Given the description of an element on the screen output the (x, y) to click on. 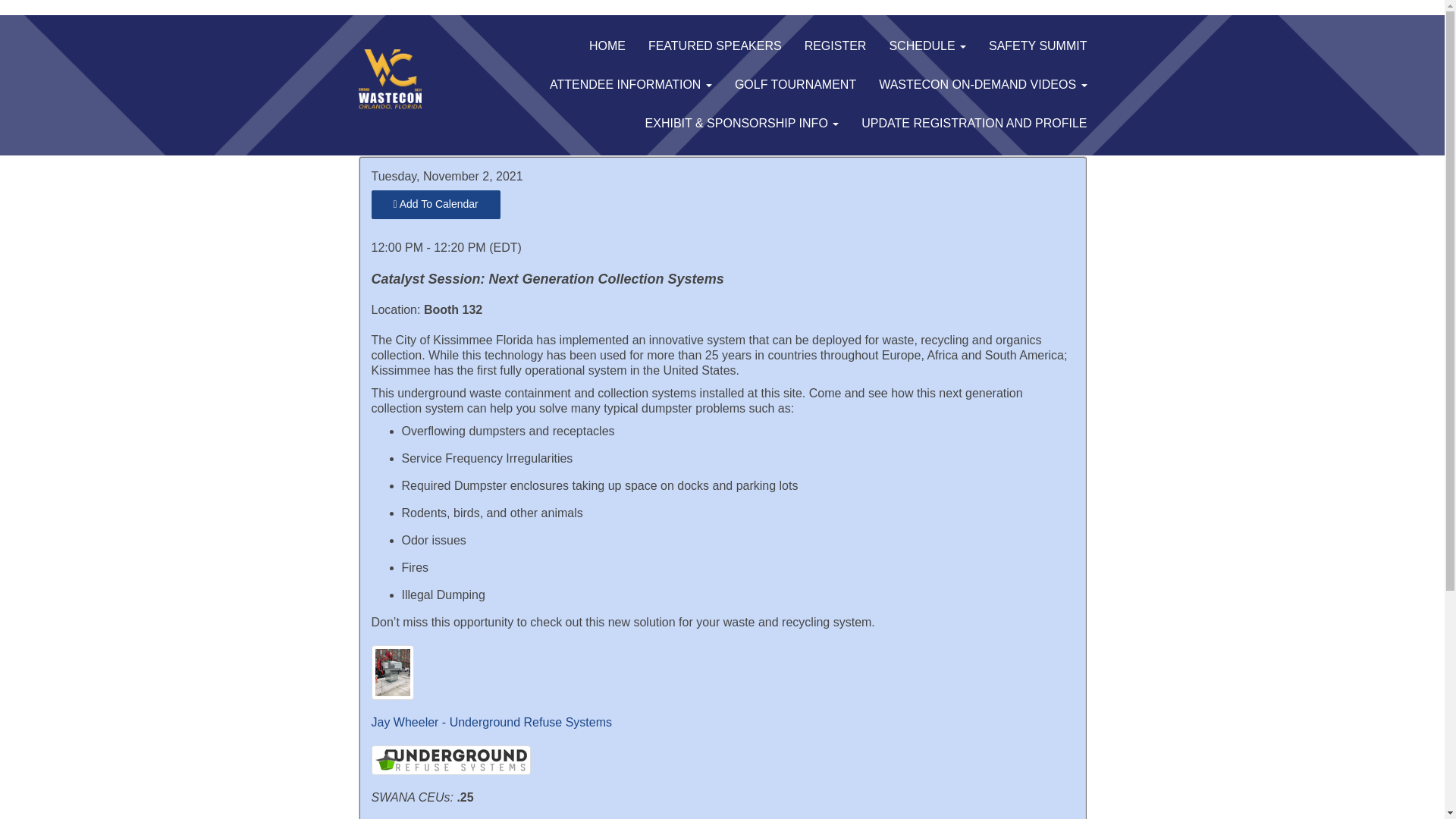
Add To Calendar (435, 204)
WASTECON ON-DEMAND VIDEOS (982, 85)
Add To Calendar (435, 204)
FEATURED SPEAKERS (715, 46)
SAFETY SUMMIT (1037, 46)
REGISTER (835, 46)
HOME (607, 46)
ATTENDEE INFORMATION (630, 85)
SCHEDULE (926, 46)
GOLF TOURNAMENT (795, 85)
Speaker Details (491, 721)
Jay Wheeler - Underground Refuse Systems (491, 721)
UPDATE REGISTRATION AND PROFILE (973, 123)
